Given the description of an element on the screen output the (x, y) to click on. 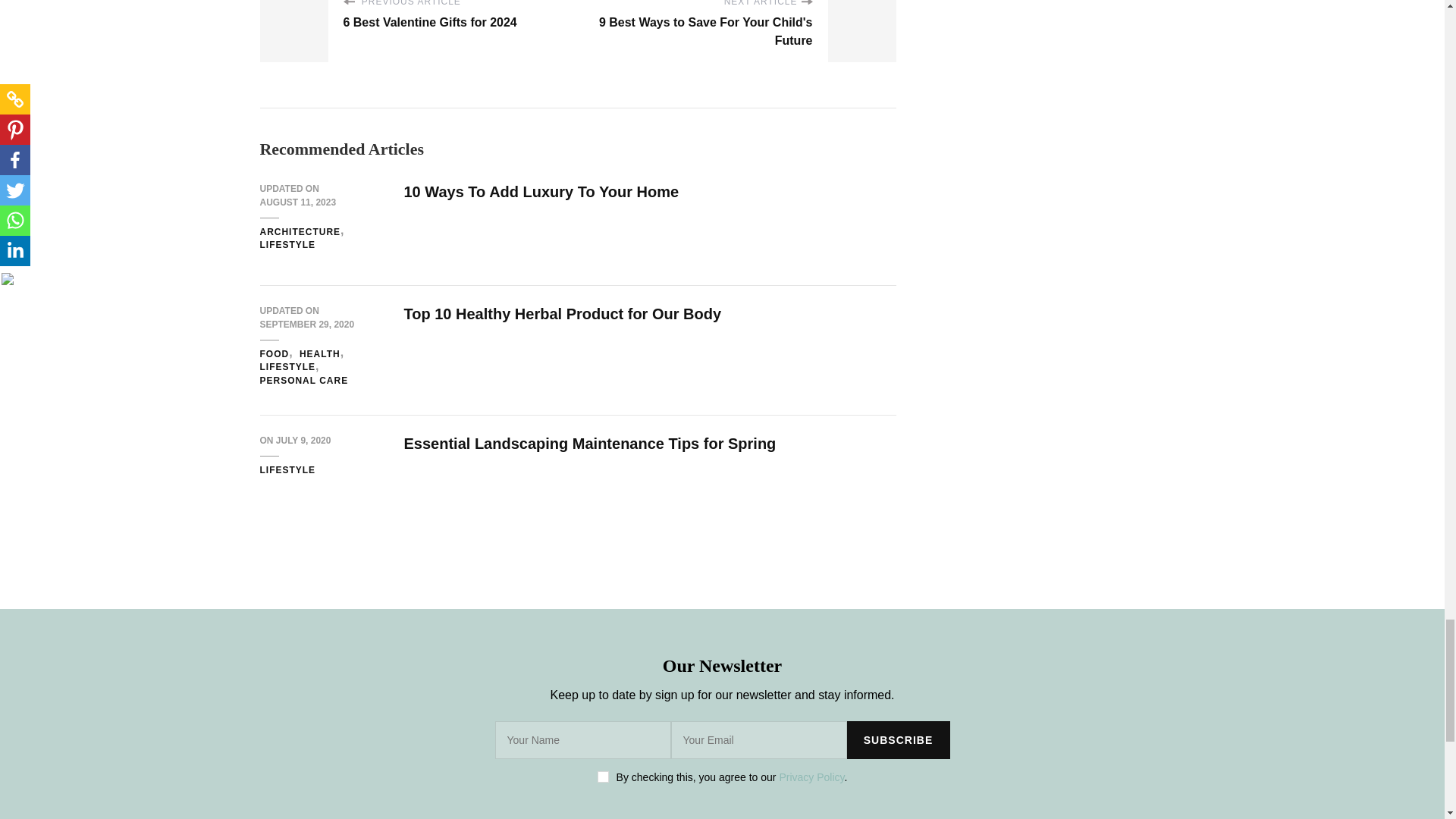
Subscribe (897, 740)
